Given the description of an element on the screen output the (x, y) to click on. 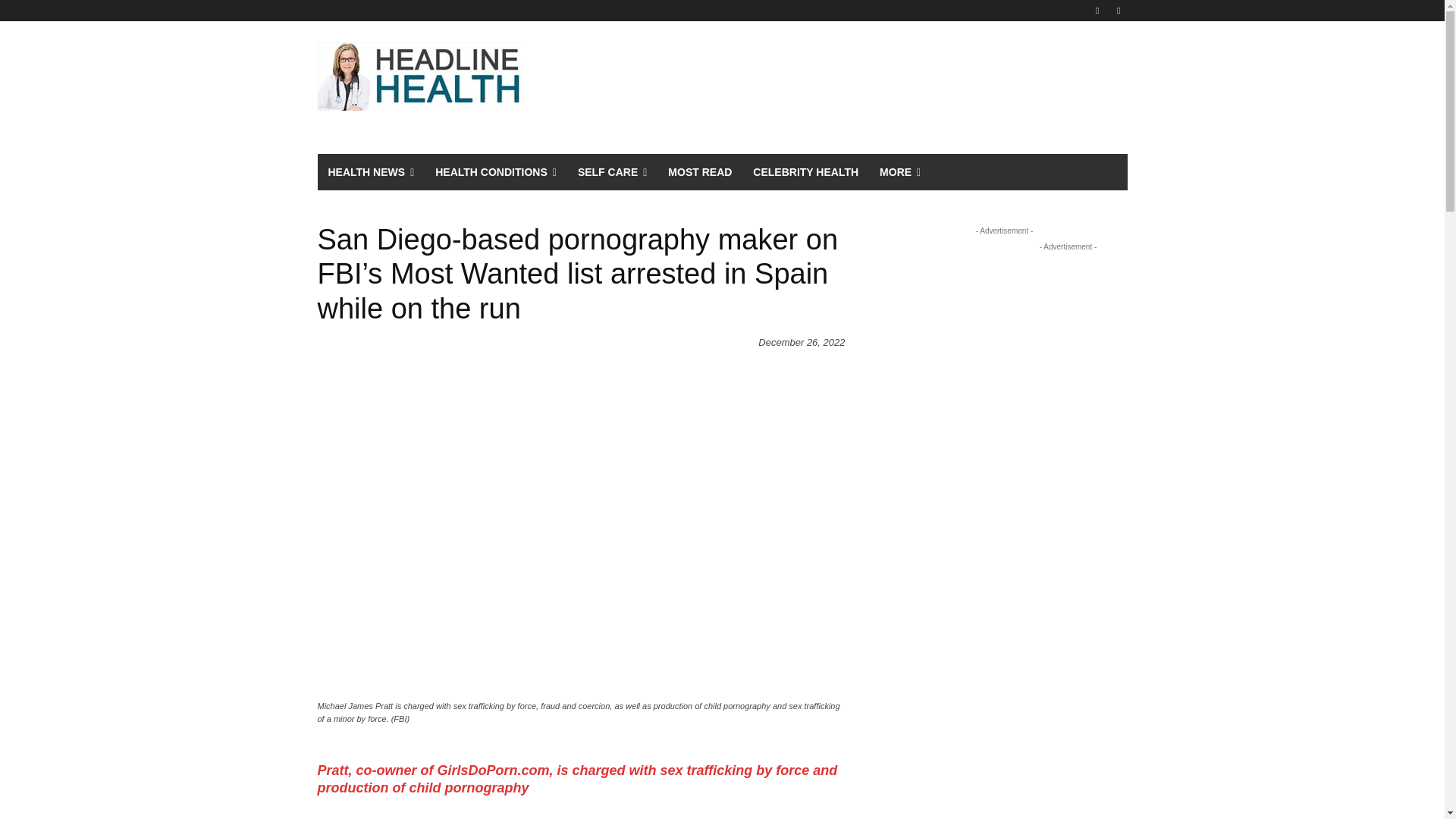
Facebook (1097, 9)
Twitter (1117, 9)
